Given the description of an element on the screen output the (x, y) to click on. 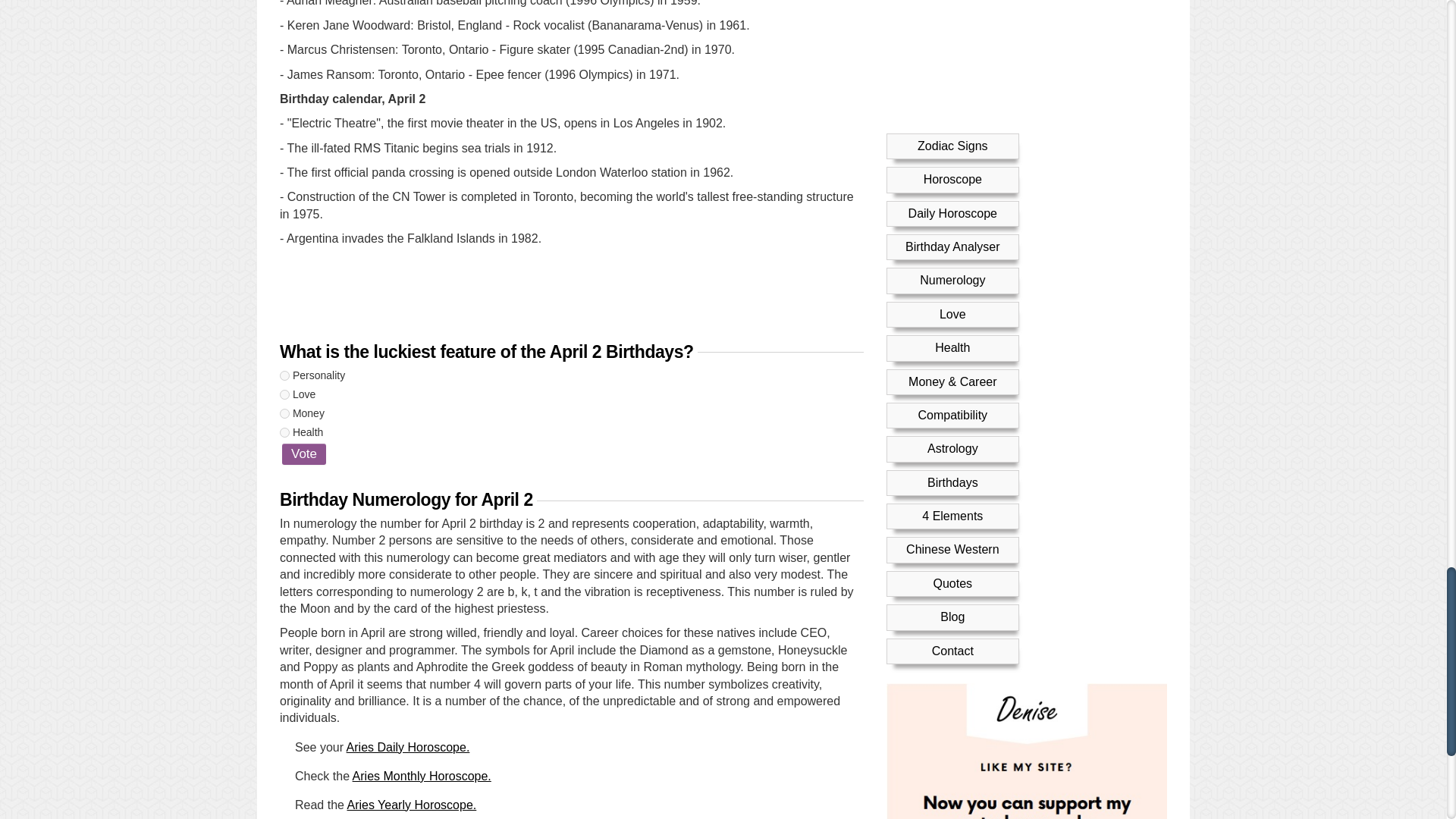
Aries Daily Horoscope (408, 747)
q4 (284, 432)
Aries September 2024 Monthly Horoscope (422, 775)
Vote (304, 454)
q3 (284, 413)
Aries Horoscope 2025: Key Yearly Predictions (412, 804)
q2 (284, 394)
q1 (284, 375)
